Given the description of an element on the screen output the (x, y) to click on. 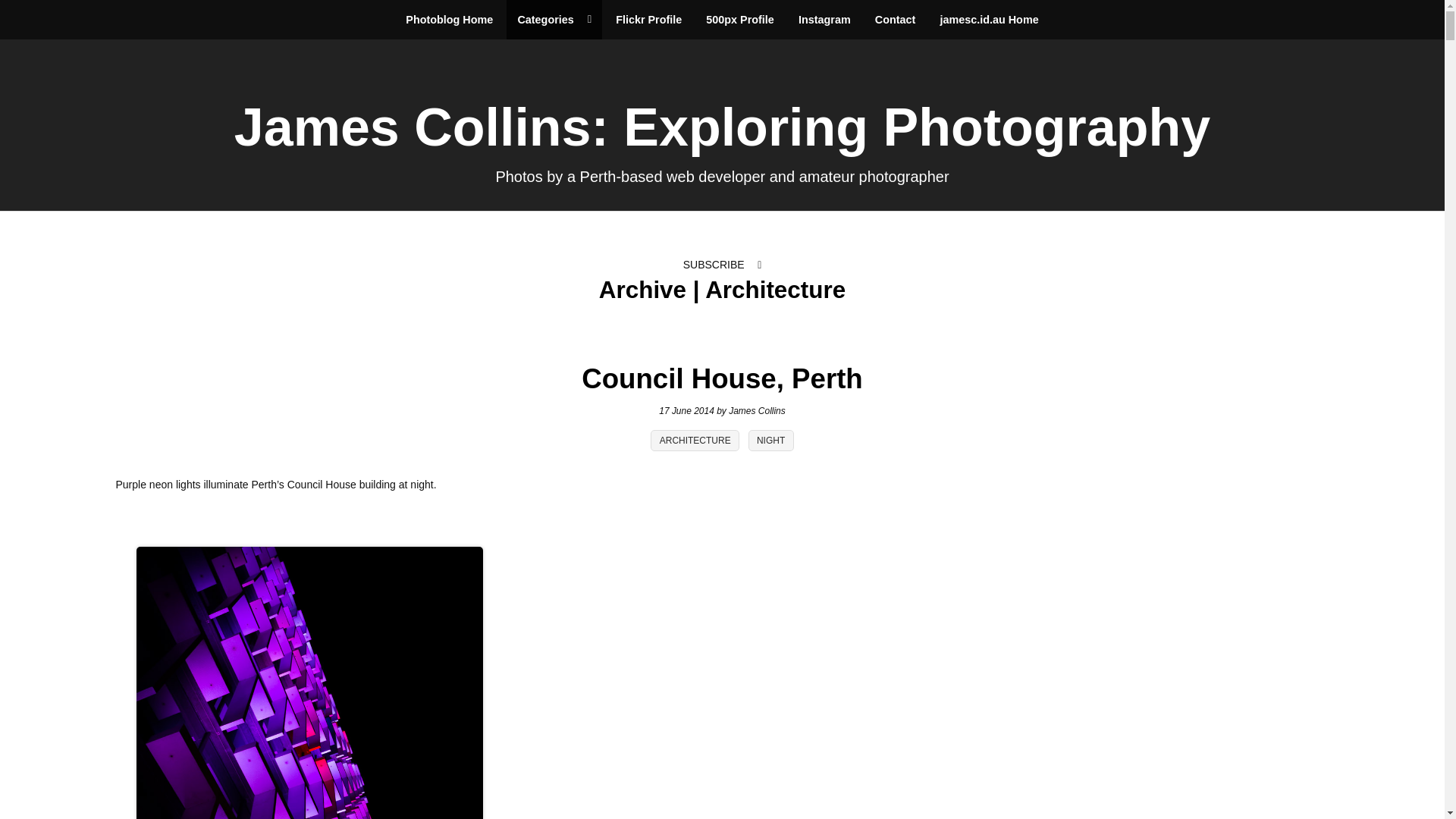
Instagram (824, 19)
500px Profile (739, 19)
Contact (894, 19)
Posts by James Collins (757, 410)
Flickr Profile (649, 19)
Photoblog Home (448, 19)
Categories (554, 19)
jamesc.id.au Home (988, 19)
Council House, Perth (721, 378)
